Given the description of an element on the screen output the (x, y) to click on. 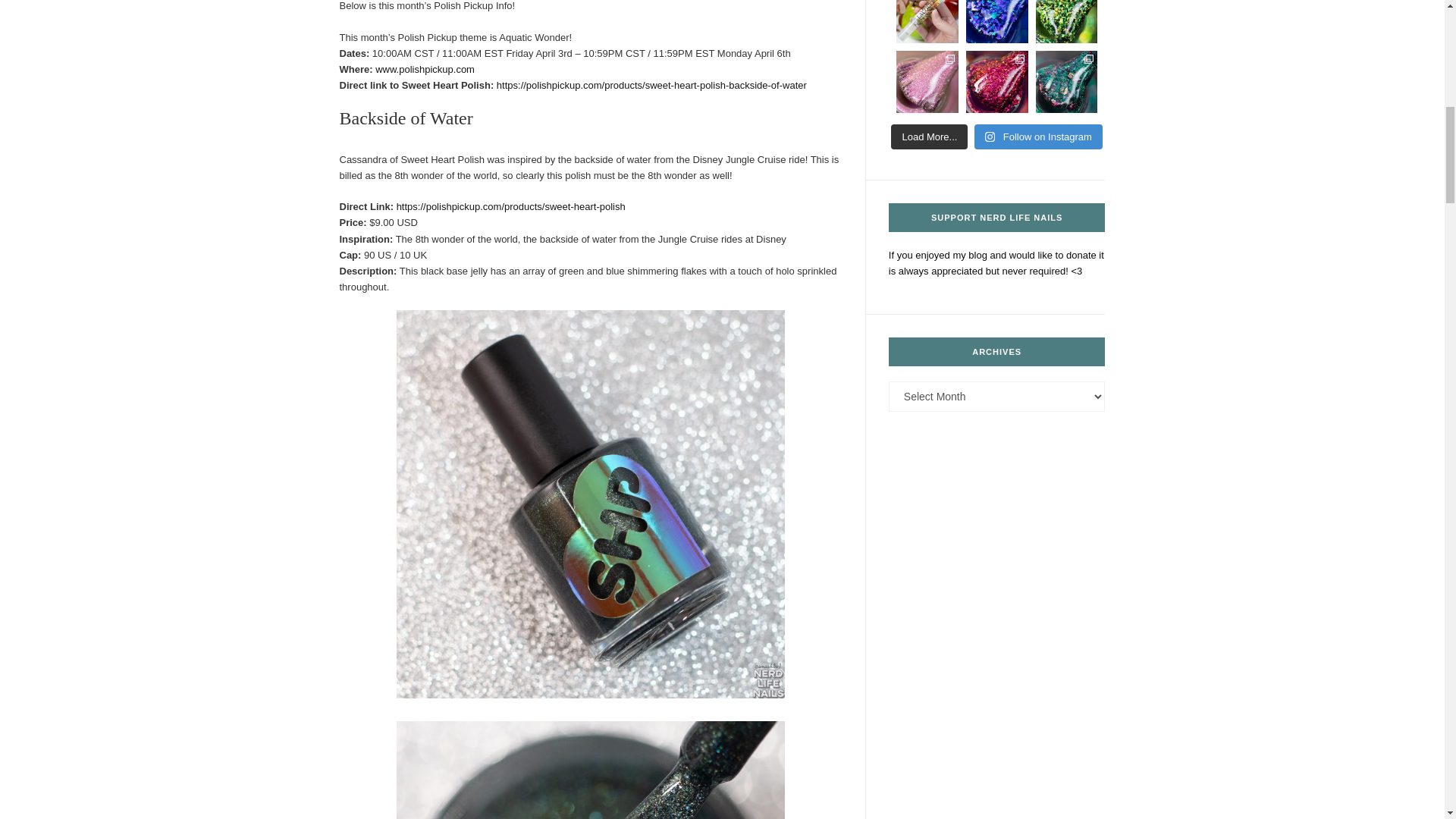
www.polishpickup.com (423, 69)
